Given the description of an element on the screen output the (x, y) to click on. 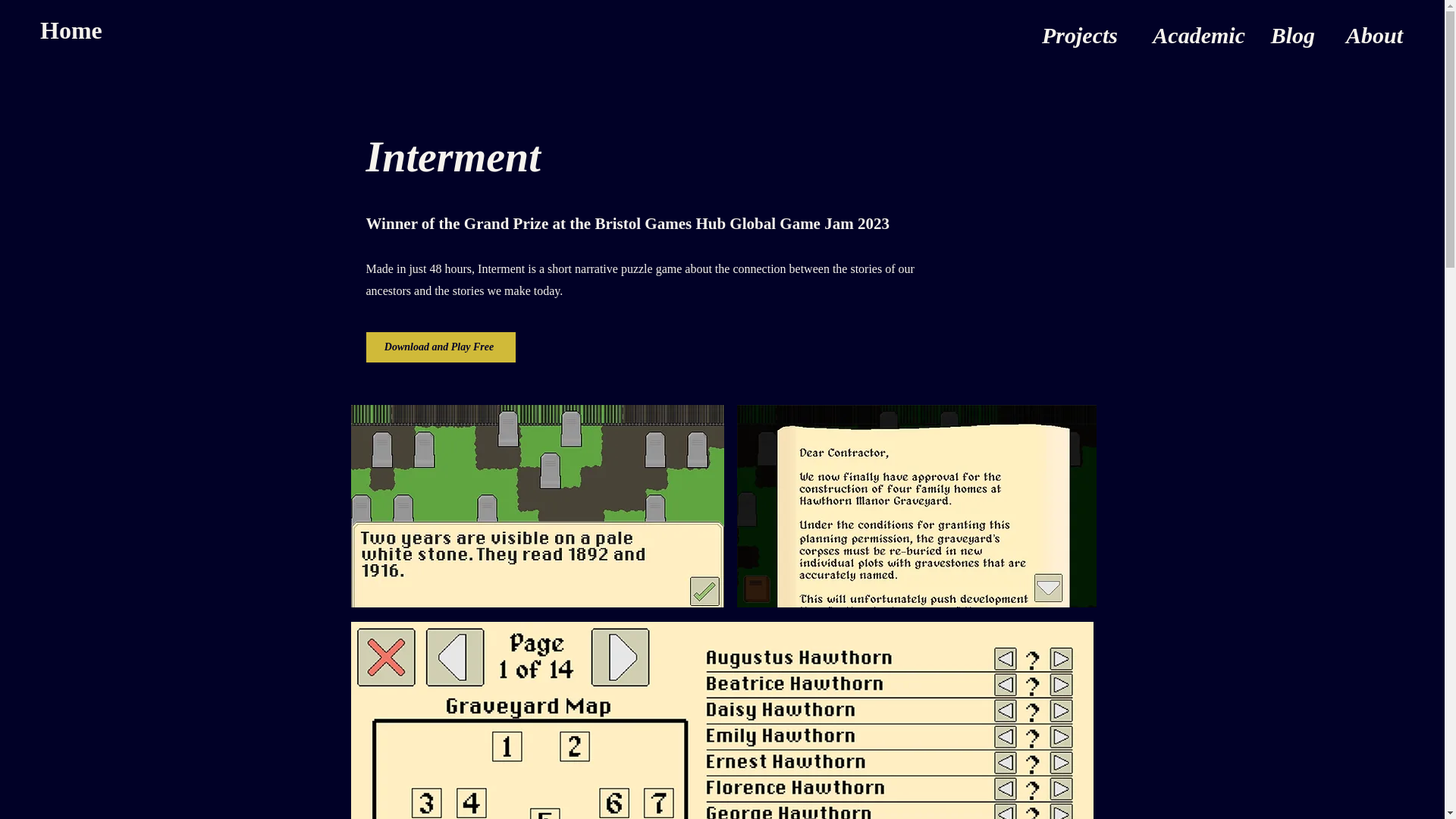
Academic (1192, 33)
Blog (1291, 33)
Projects (1074, 33)
Download and Play Free (440, 347)
grave description large.jpg (536, 505)
Home (70, 30)
contractor letter.jpg (916, 505)
About (1369, 33)
